Given the description of an element on the screen output the (x, y) to click on. 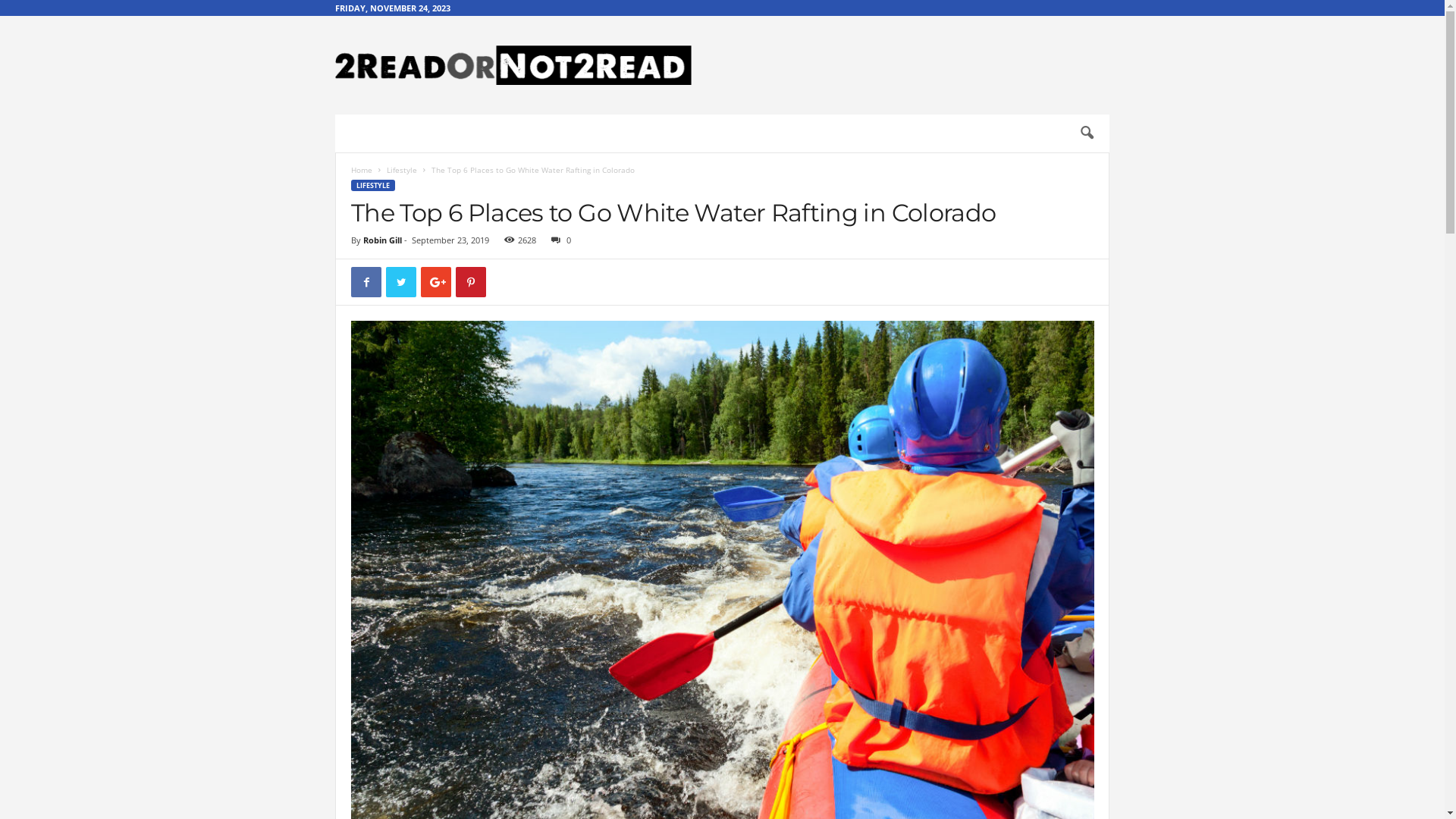
2ReadOrNot2Read Element type: text (513, 64)
Home Element type: text (361, 169)
LIFESTYLE Element type: text (373, 185)
Robin Gill Element type: text (382, 239)
0 Element type: text (558, 239)
Lifestyle Element type: text (401, 169)
